Given the description of an element on the screen output the (x, y) to click on. 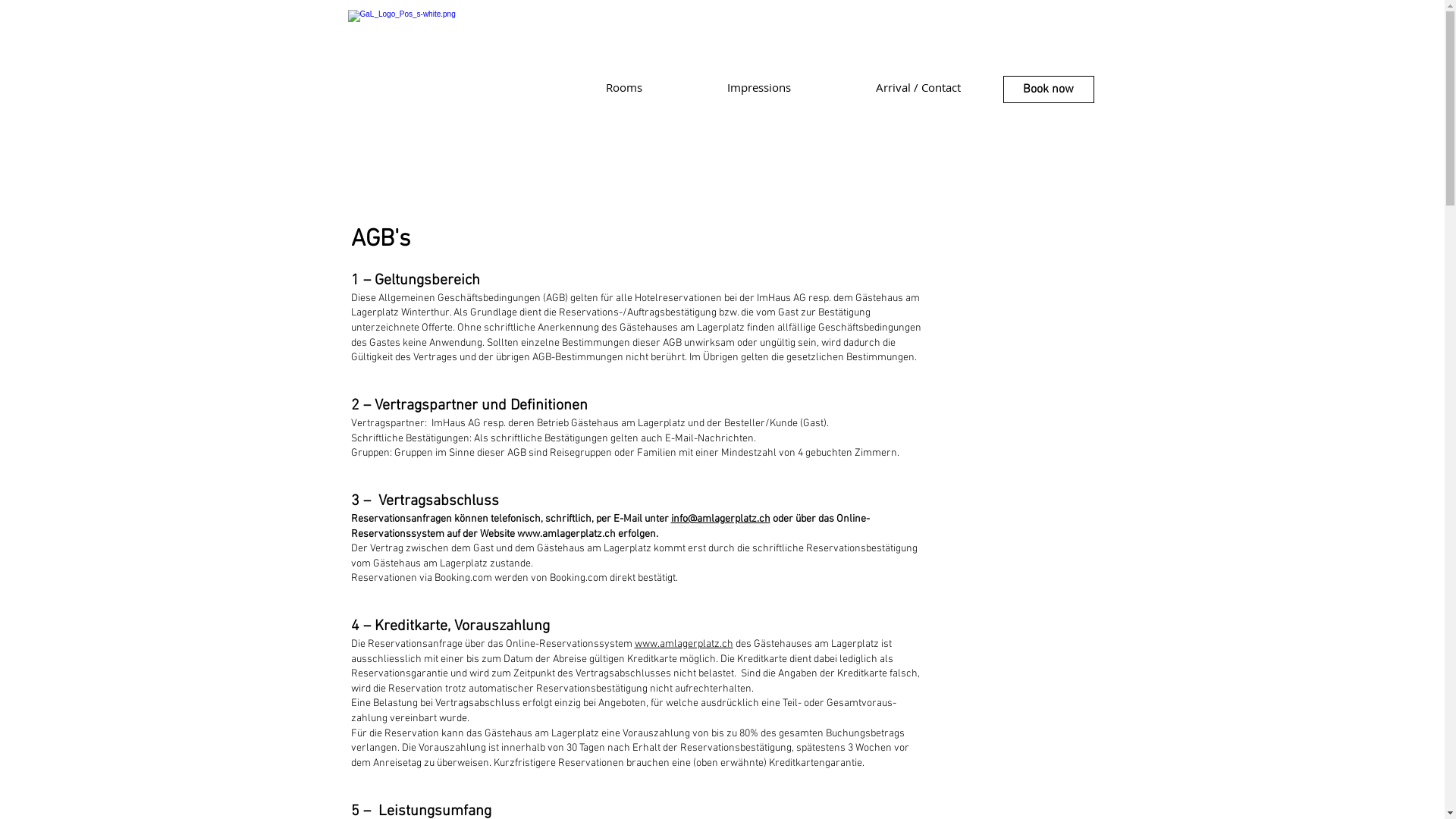
www.amlagerplatz.ch Element type: text (682, 643)
info@amlagerplatz.ch Element type: text (719, 518)
GaL_Logo_Pos_s-white.png Element type: hover (422, 51)
Impressions Element type: text (758, 86)
Rooms Element type: text (623, 86)
www.amlagerplatz.ch Element type: text (566, 533)
Arrival / Contact Element type: text (917, 86)
Book now Element type: text (1047, 89)
